Given the description of an element on the screen output the (x, y) to click on. 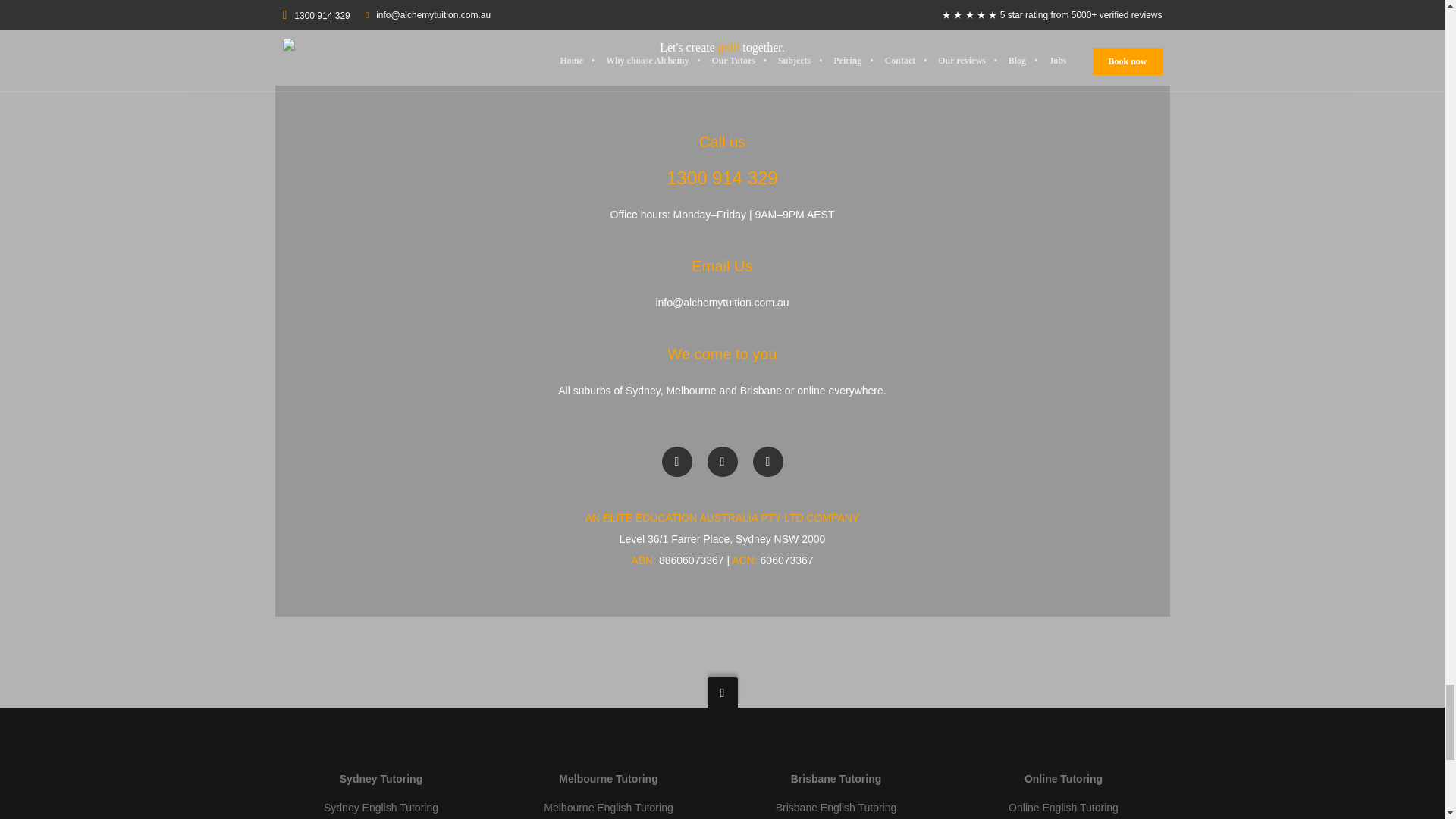
Alchemy on Facebook (676, 461)
Alchemy on Instagram (721, 461)
Alchemy on Youtube (767, 461)
